Given the description of an element on the screen output the (x, y) to click on. 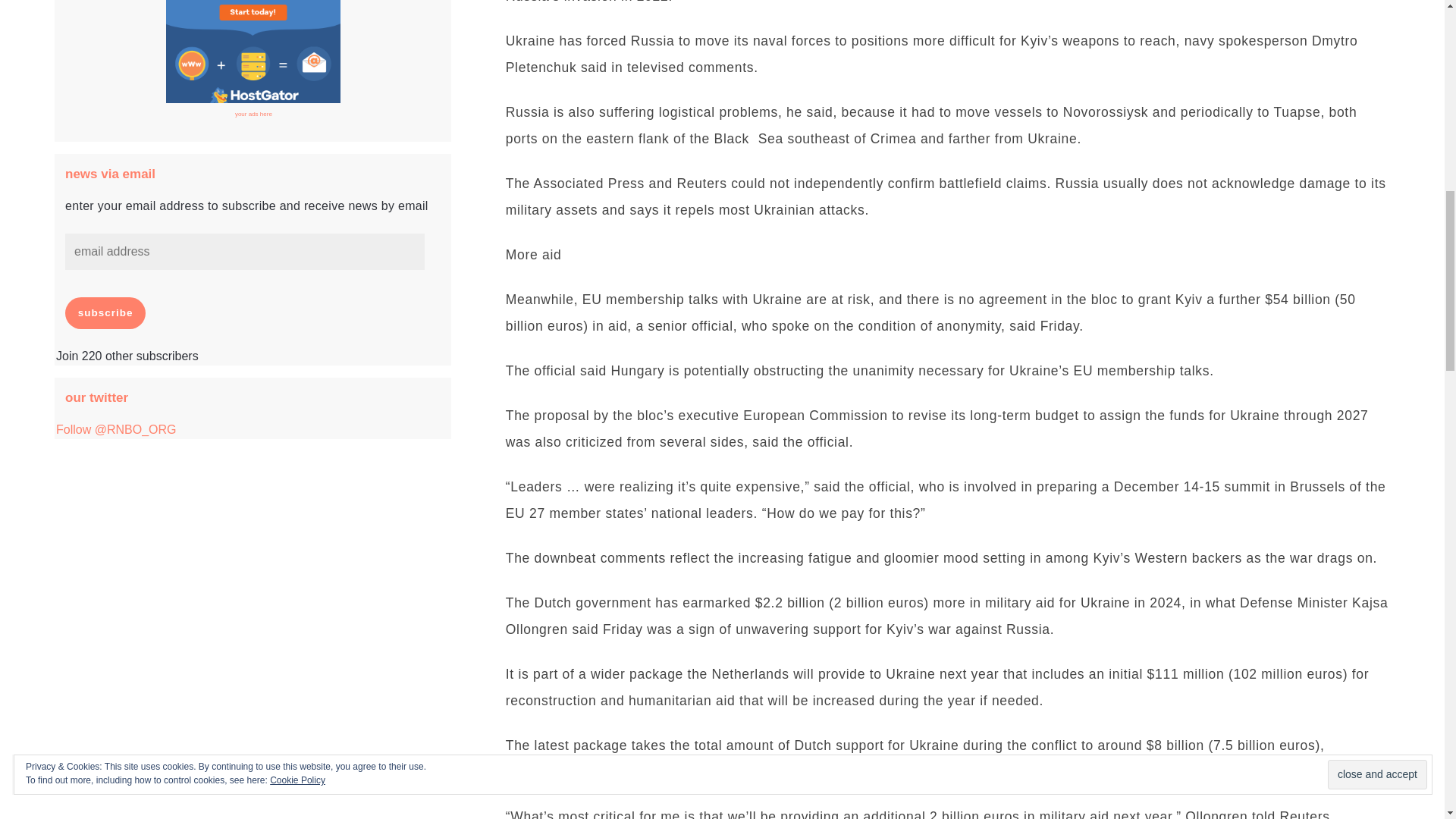
your ads here (253, 113)
